Given the description of an element on the screen output the (x, y) to click on. 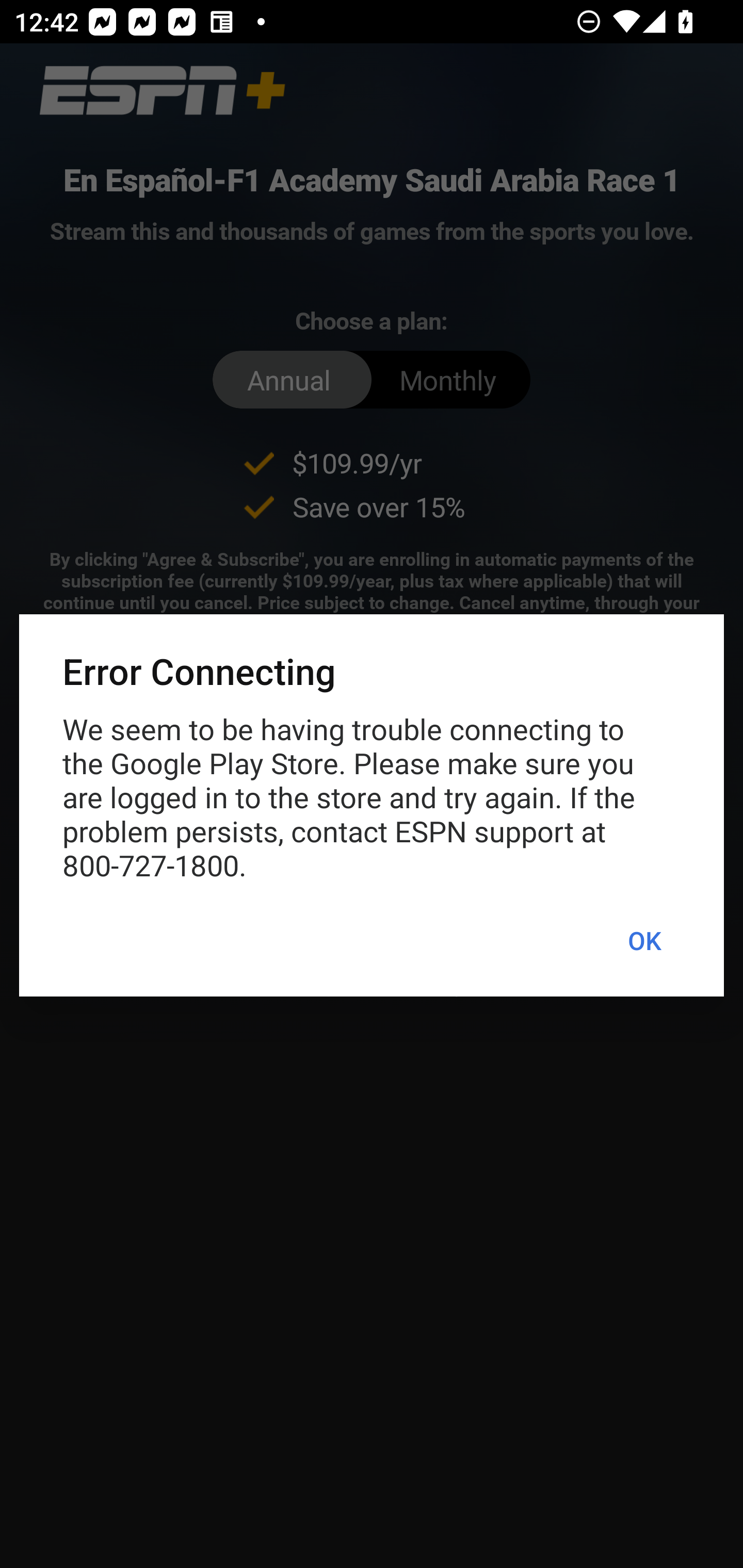
OK (644, 940)
